Given the description of an element on the screen output the (x, y) to click on. 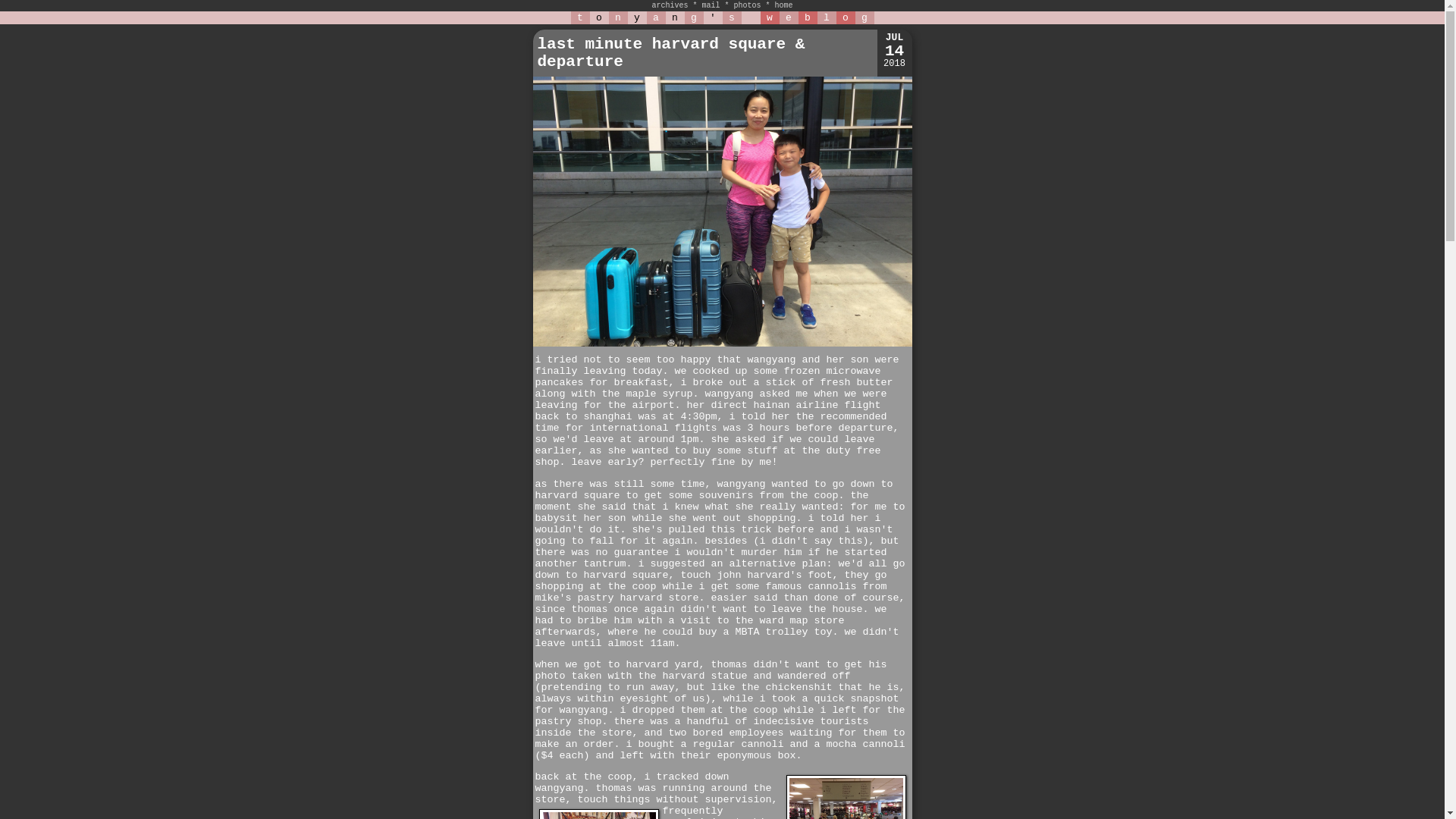
wangyang and son return to shanghai (721, 343)
photos (747, 5)
home (783, 5)
mail (710, 5)
